Given the description of an element on the screen output the (x, y) to click on. 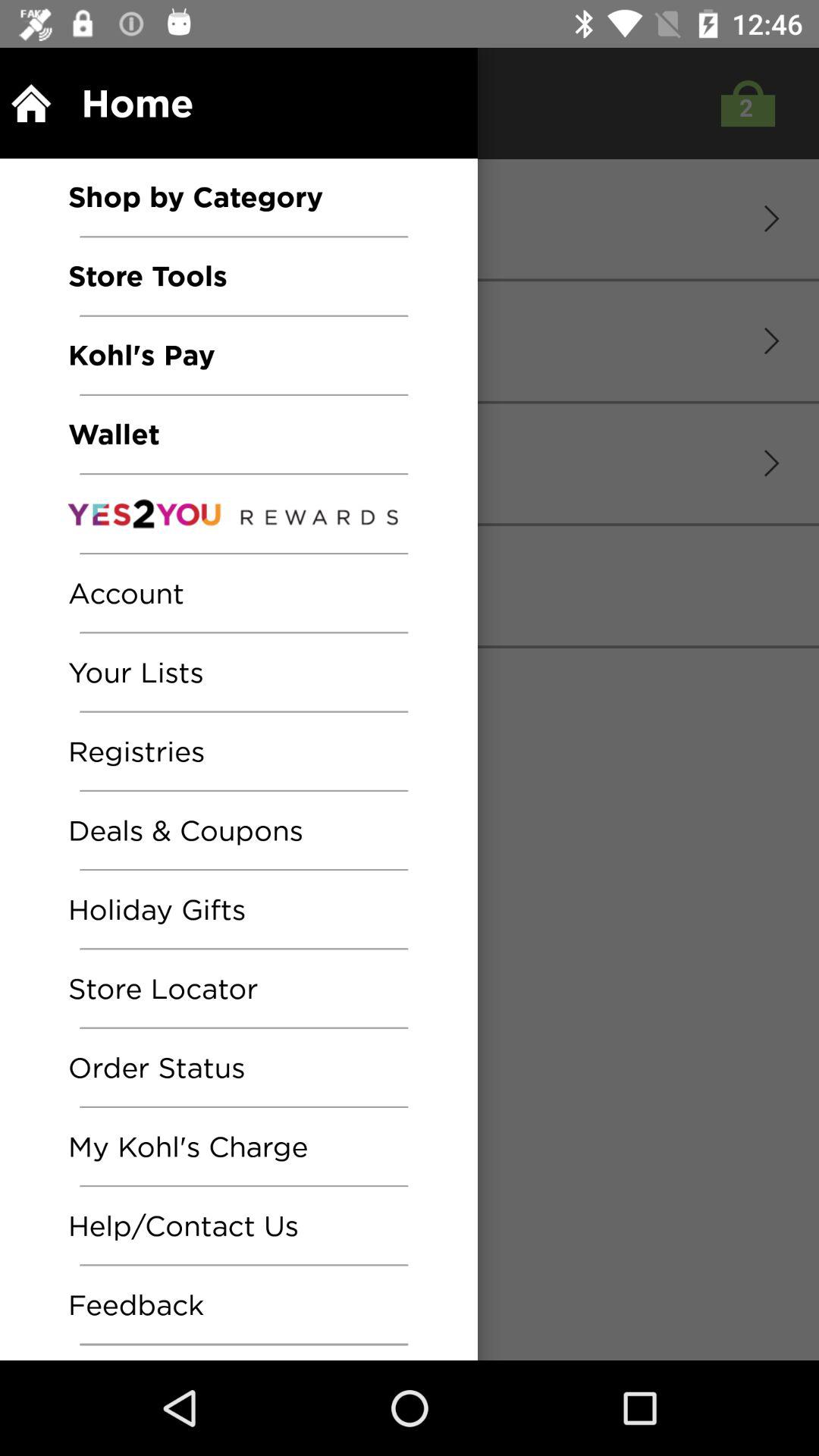
select the button at top of the page (744, 103)
